Given the description of an element on the screen output the (x, y) to click on. 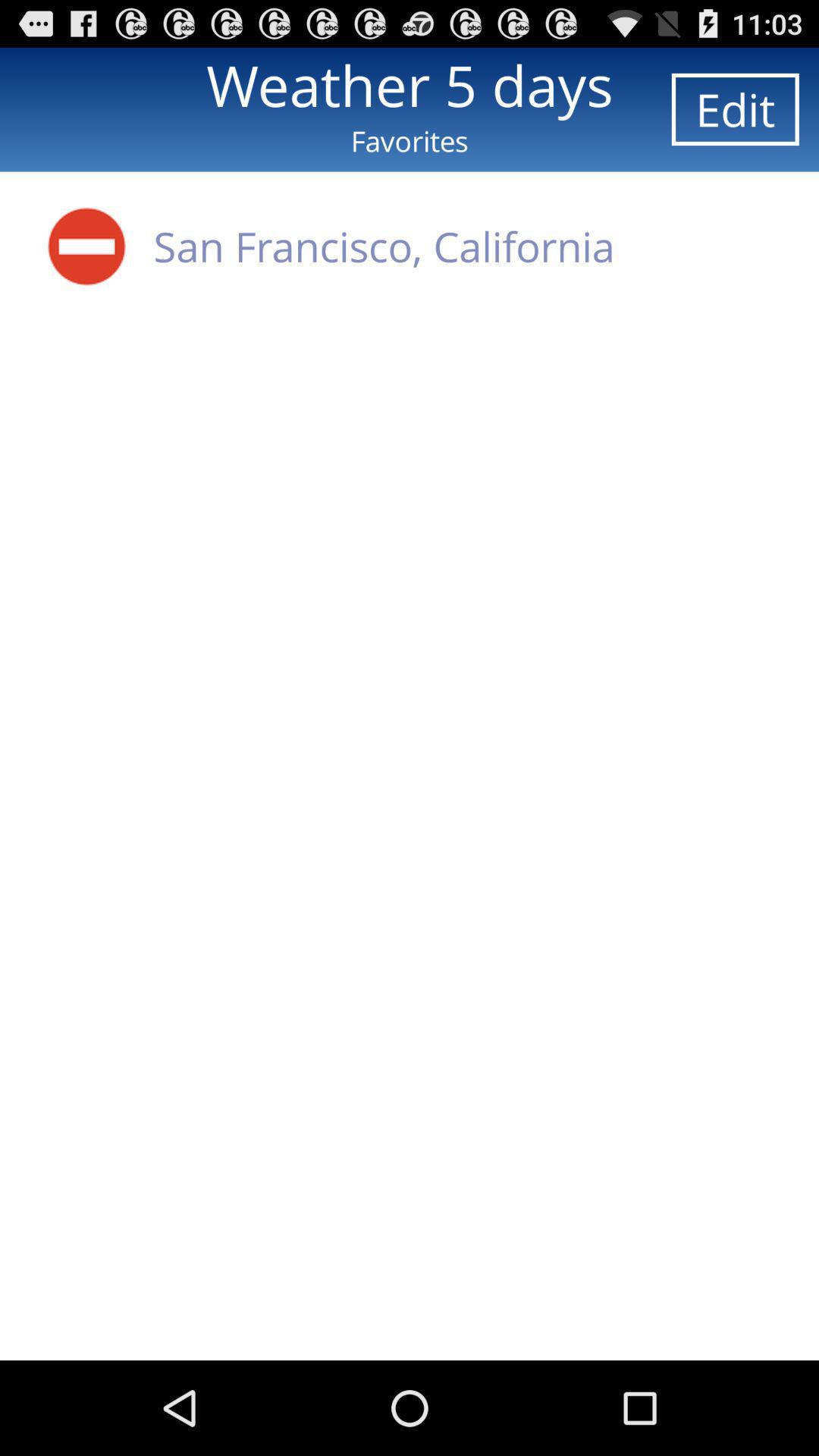
tap the app to the left of san francisco, california icon (86, 245)
